Given the description of an element on the screen output the (x, y) to click on. 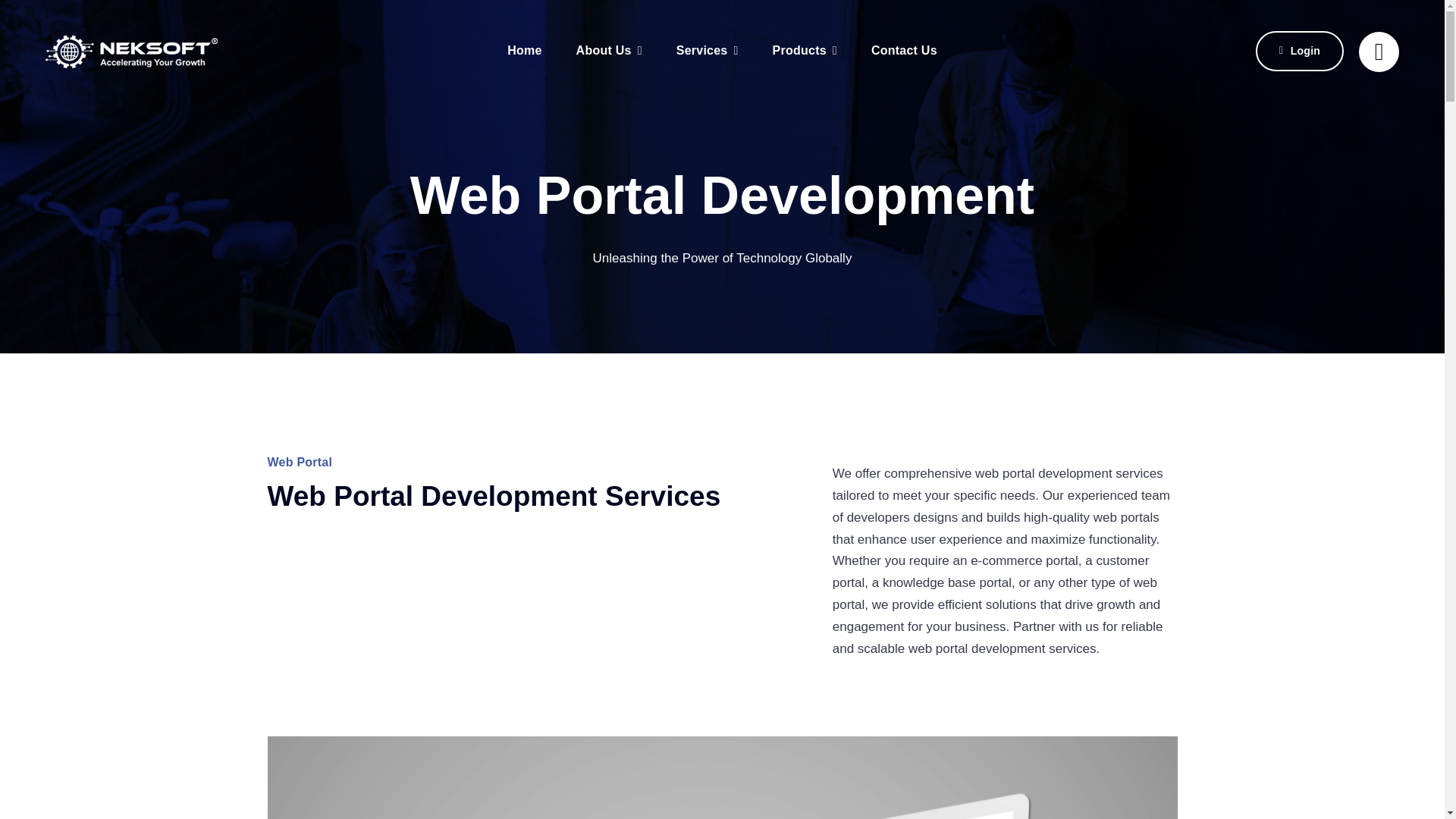
Home (523, 51)
Services (707, 51)
mainlogo (145, 50)
Contact Us (903, 51)
Products (805, 51)
Login (1299, 51)
About Us (609, 51)
